Given the description of an element on the screen output the (x, y) to click on. 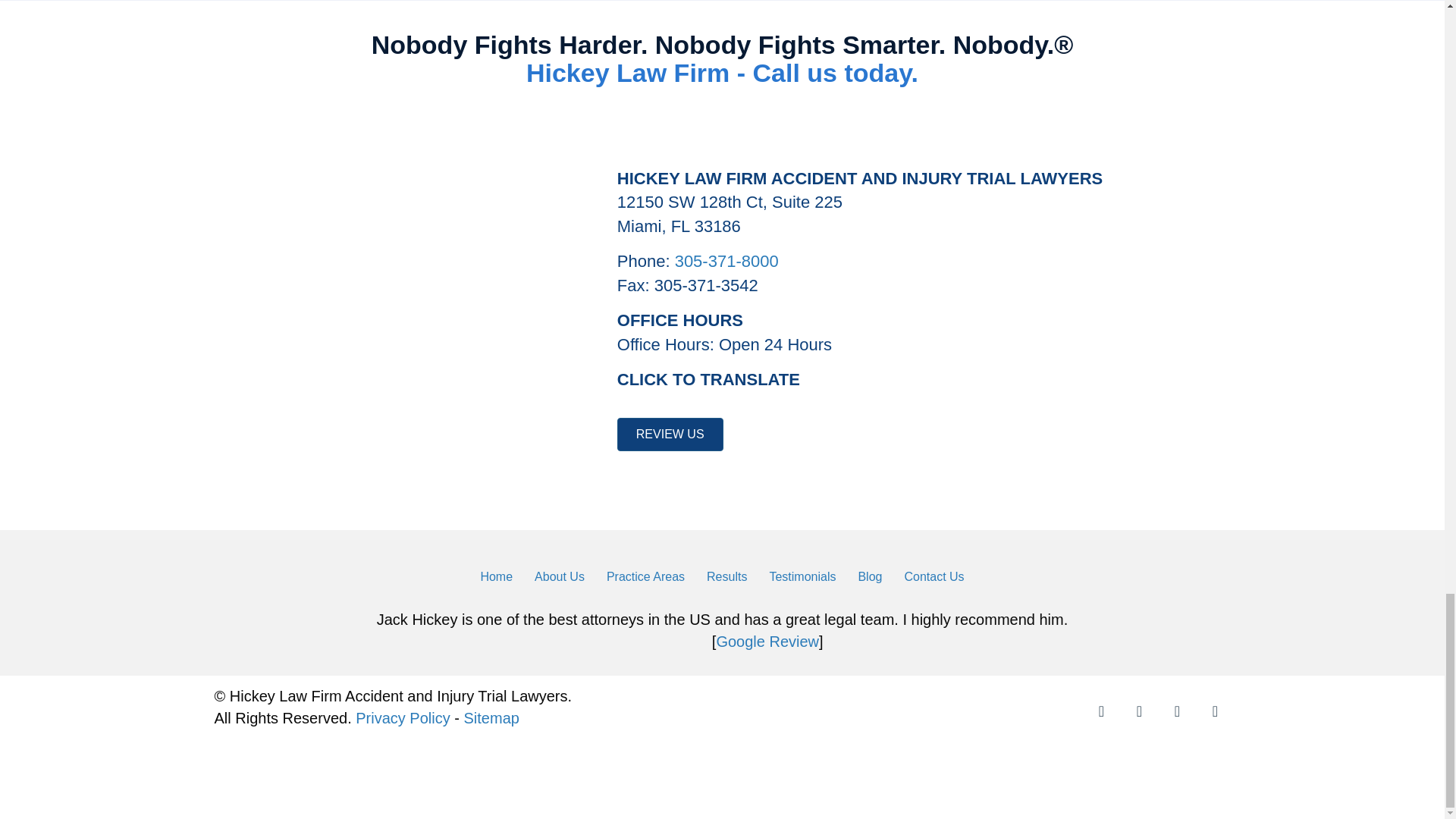
Facebook (1214, 711)
Youtube Channel (1139, 711)
powered-by-DLM (1181, 770)
Twitter (1176, 711)
